Given the description of an element on the screen output the (x, y) to click on. 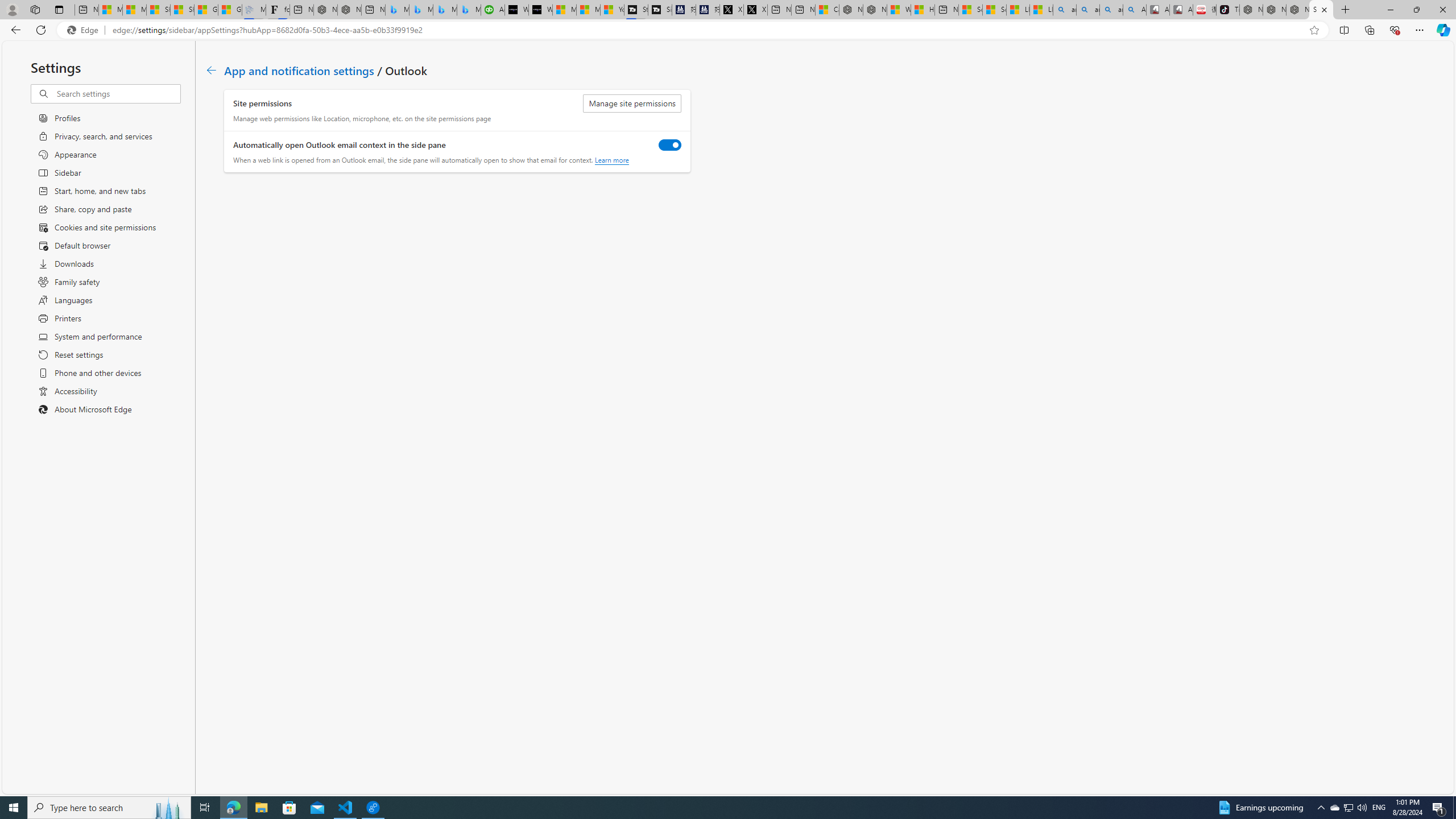
Search settings (117, 93)
Microsoft Bing Travel - Shangri-La Hotel Bangkok (469, 9)
App and notification settings (299, 69)
Huge shark washes ashore at New York City beach | Watch (922, 9)
amazon - Search (1088, 9)
Manage site permissions (631, 103)
Nordace Siena Pro 15 Backpack (1274, 9)
